Given the description of an element on the screen output the (x, y) to click on. 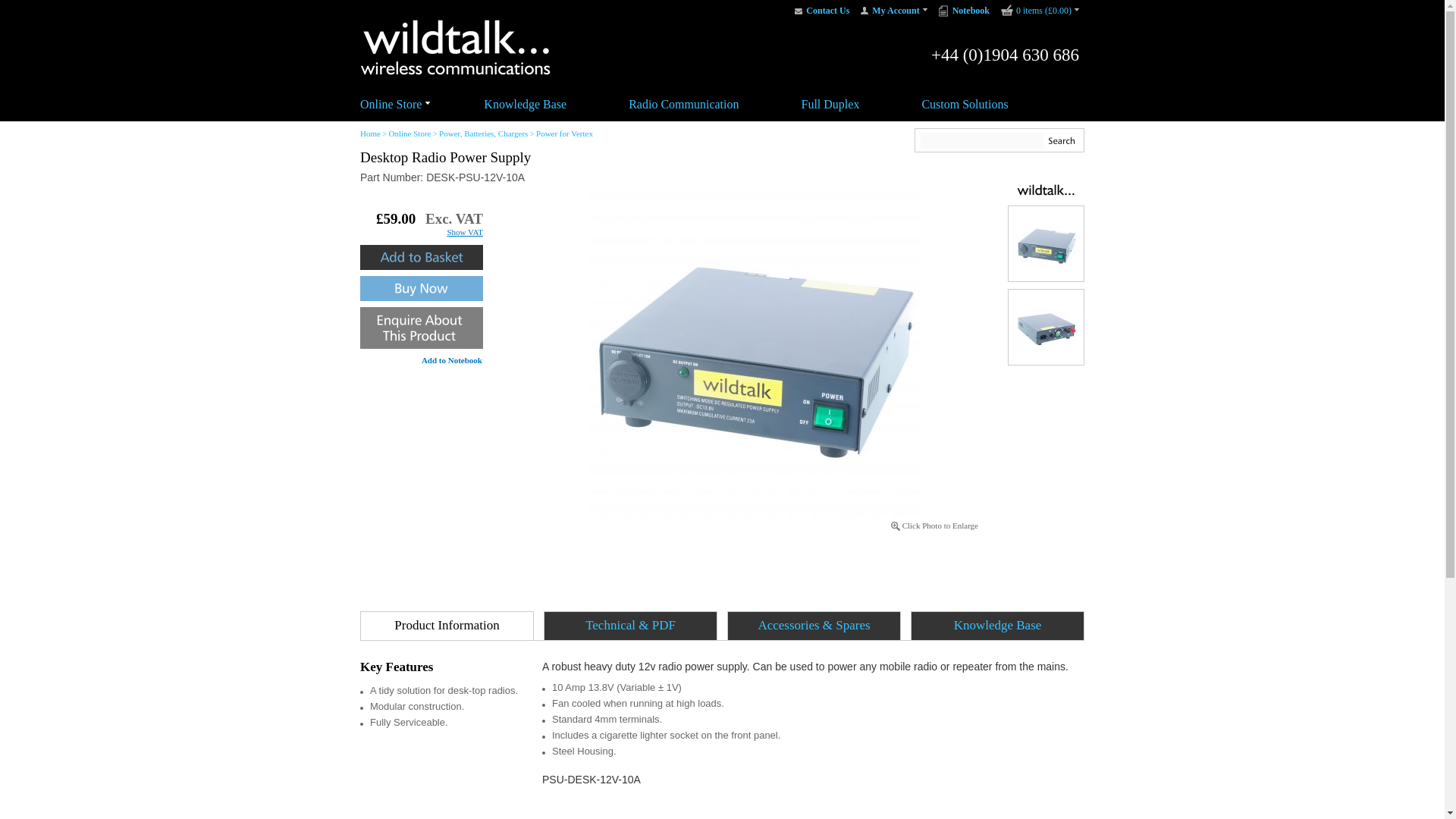
Contact Us (827, 10)
Home (369, 133)
Radio Communication (683, 103)
Knowledge Base (524, 103)
Full Duplex (831, 103)
Online Store (390, 103)
Radio power supply 10amp back view (1046, 327)
Radio power supply 10amp (1046, 243)
My Account (899, 10)
Power for Vertex (563, 133)
